Given the description of an element on the screen output the (x, y) to click on. 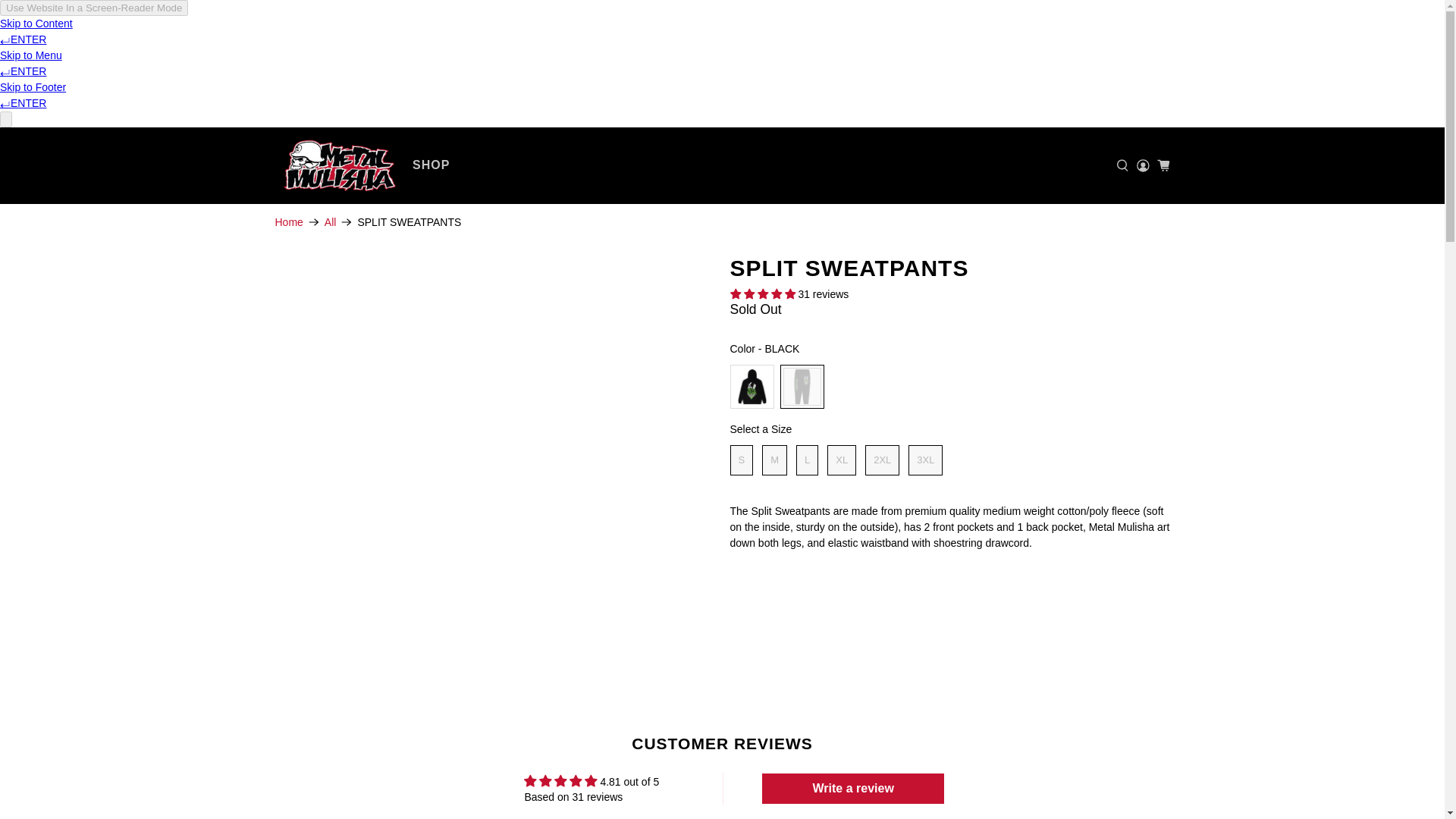
SHOP (431, 165)
Metal Mulisha (288, 222)
Metal Mulisha (339, 165)
